Given the description of an element on the screen output the (x, y) to click on. 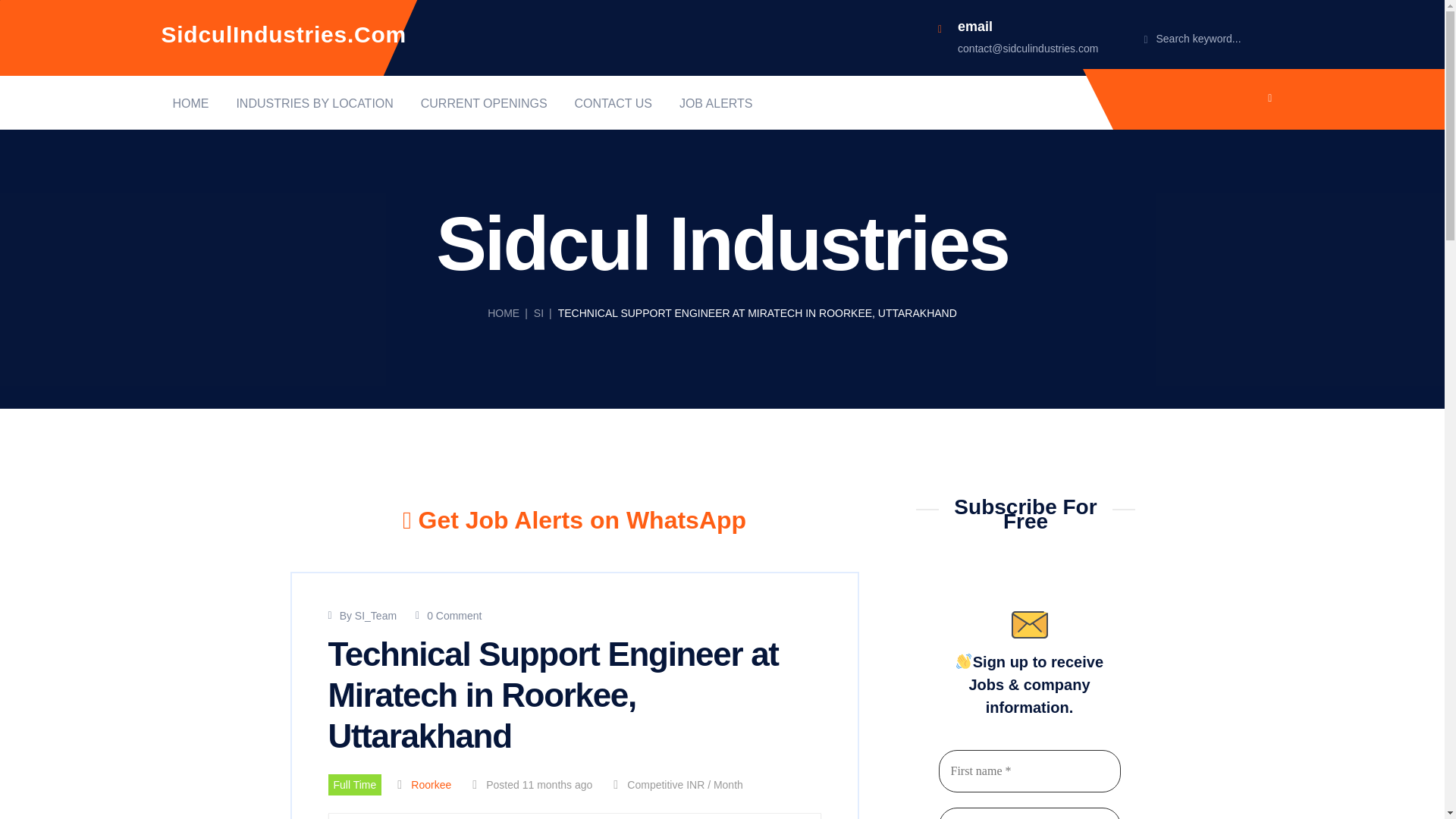
INDUSTRIES BY LOCATION (314, 103)
Email Address (1030, 813)
Join Uttarakhand job WhatsApp Group (574, 519)
CURRENT OPENINGS (483, 103)
HOME (191, 103)
Roorkee (430, 784)
HOME (503, 313)
CONTACT US (612, 103)
JOB ALERTS (715, 103)
0 Comment (453, 615)
First name (1030, 771)
SidculIndustries.Com (283, 34)
